Given the description of an element on the screen output the (x, y) to click on. 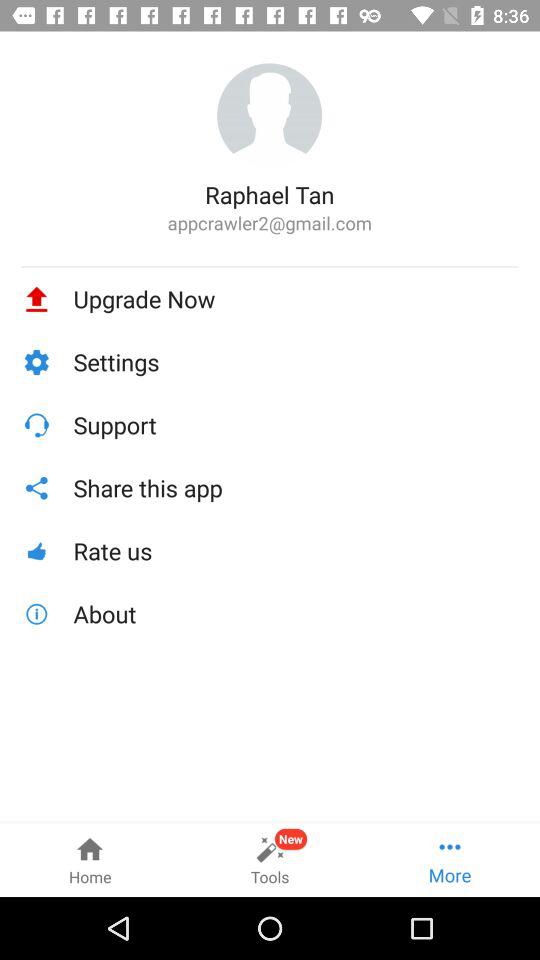
select appcrawler2@gmail.com (269, 222)
